Given the description of an element on the screen output the (x, y) to click on. 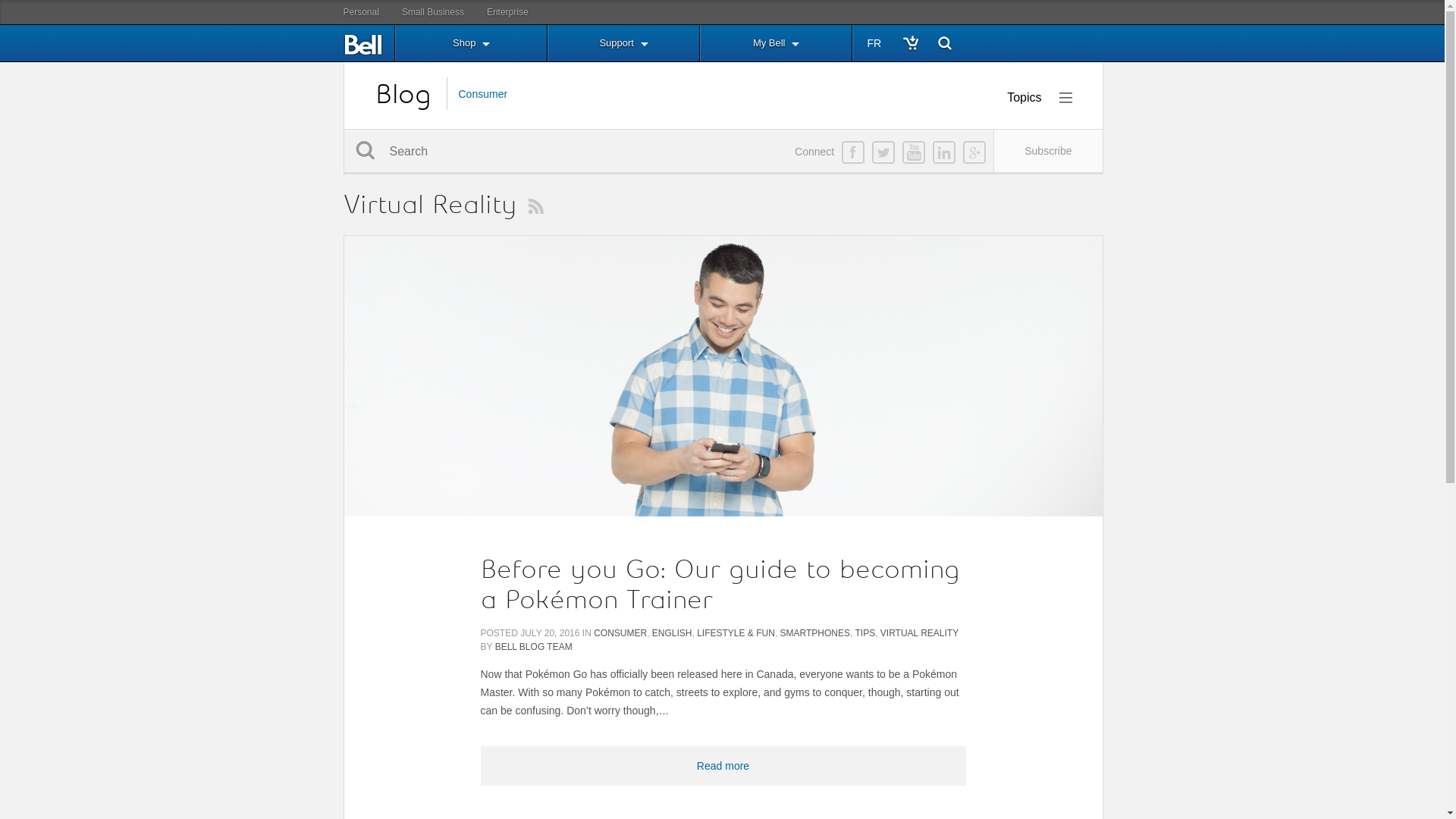
Facebook Element type: text (852, 152)
Shop Element type: text (470, 43)
FR Element type: text (874, 43)
Search bell.ca Element type: text (944, 43)
Topics Element type: text (1039, 97)
CONSUMER Element type: text (619, 632)
Enterprise Element type: text (507, 11)
Small Business Element type: text (432, 11)
Support Element type: text (623, 43)
Search Element type: text (365, 150)
LinkedIn Element type: text (943, 152)
LIFESTYLE & FUN Element type: text (735, 632)
Subscribe Element type: text (1047, 150)
Twitter Element type: text (883, 152)
Blog Element type: text (402, 93)
Shop Element type: text (909, 43)
SMARTPHONES Element type: text (815, 632)
Google + Element type: text (974, 152)
ENGLISH Element type: text (672, 632)
Consumer Element type: text (482, 93)
BELL BLOG TEAM Element type: text (533, 646)
Personal Element type: text (360, 11)
Youtube Element type: text (913, 152)
Read more Element type: text (723, 765)
RSS Element type: text (534, 205)
My Bell Element type: text (775, 43)
VIRTUAL REALITY Element type: text (919, 632)
TIPS Element type: text (864, 632)
